Given the description of an element on the screen output the (x, y) to click on. 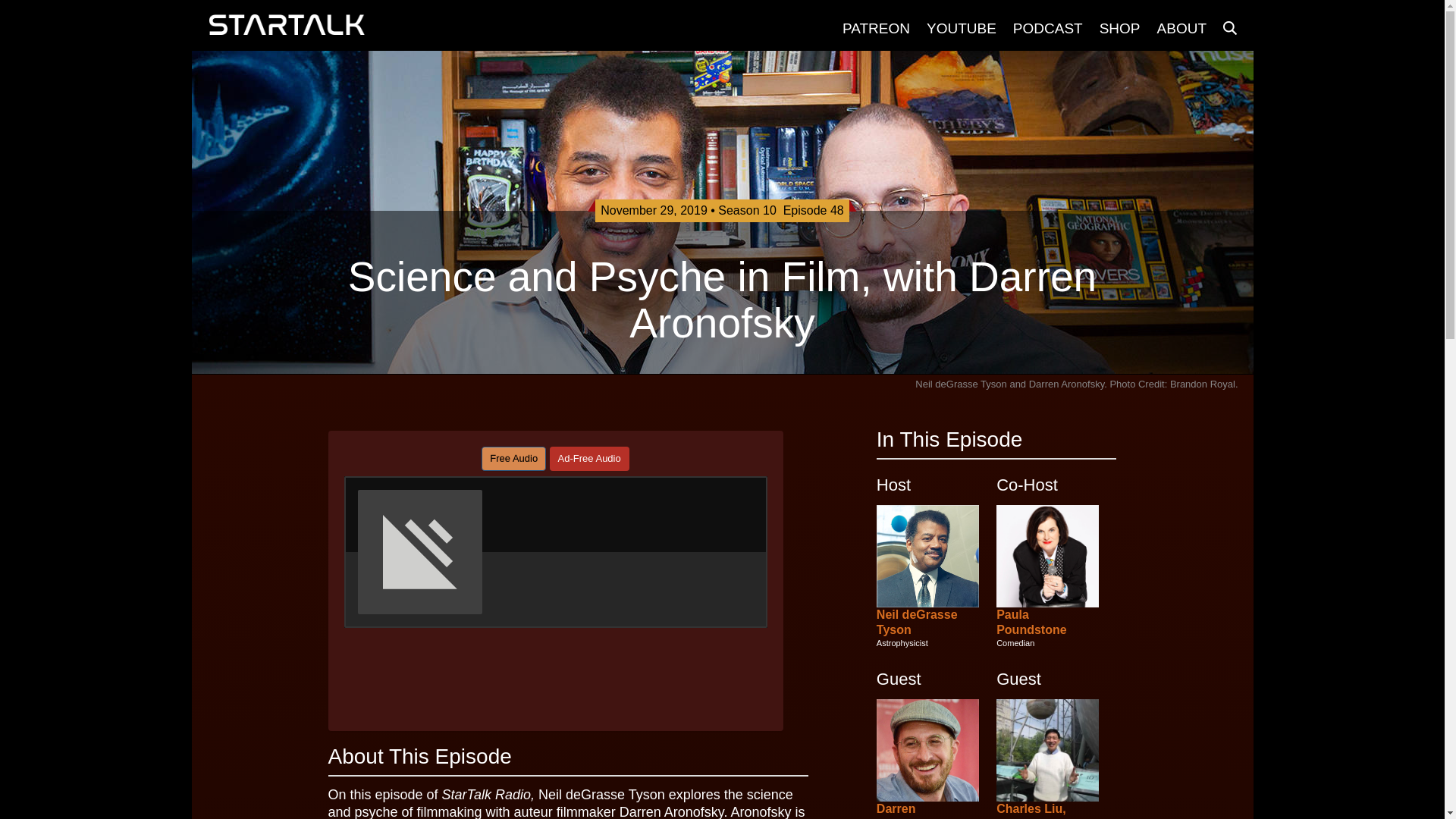
PODCAST (1046, 28)
SHOP (1119, 28)
ABOUT (1180, 28)
YOUTUBE (960, 28)
PATREON (874, 28)
